Given the description of an element on the screen output the (x, y) to click on. 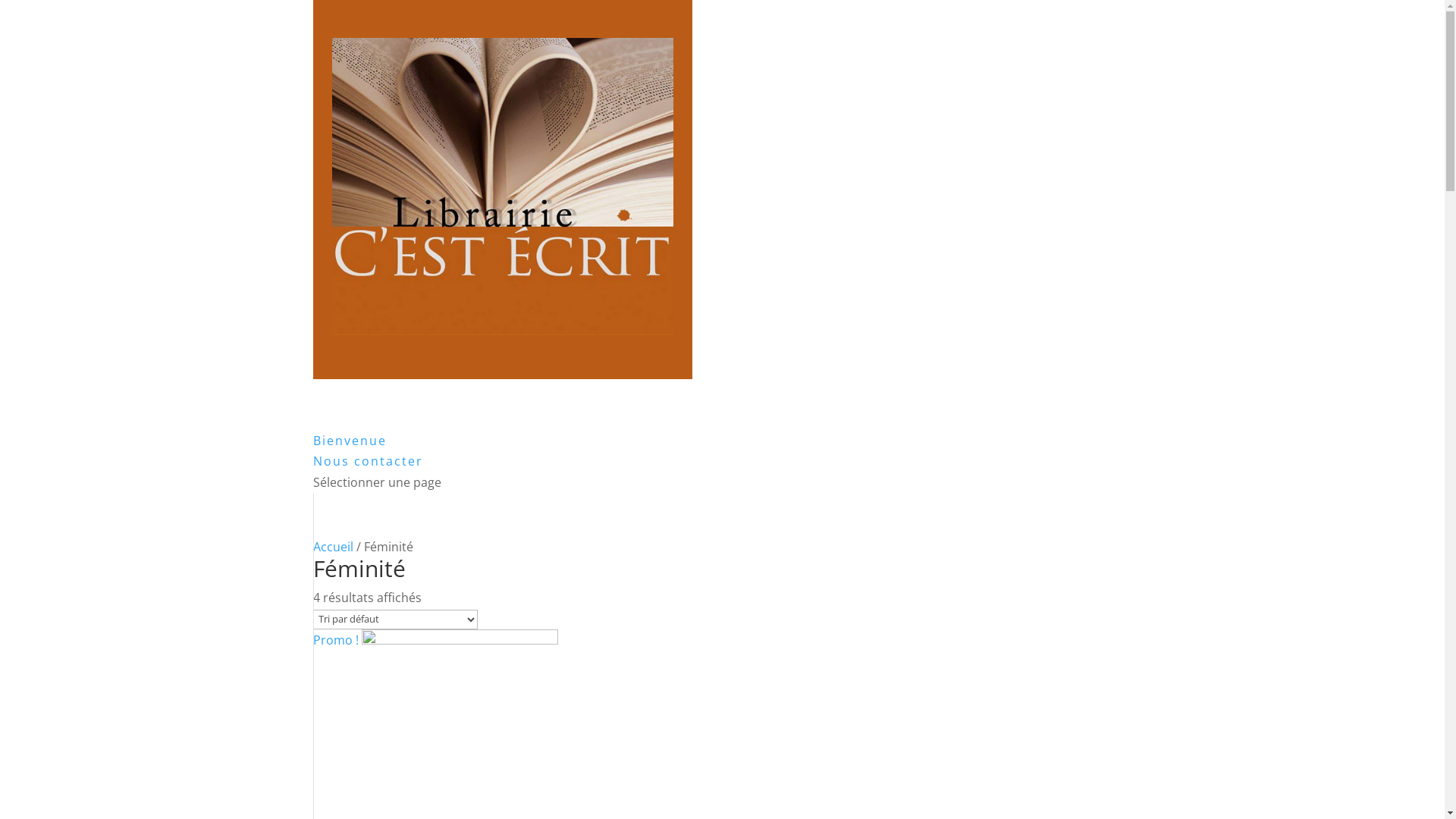
Nous contacter Element type: text (367, 483)
Bienvenue Element type: text (348, 463)
Accueil Element type: text (332, 546)
